Given the description of an element on the screen output the (x, y) to click on. 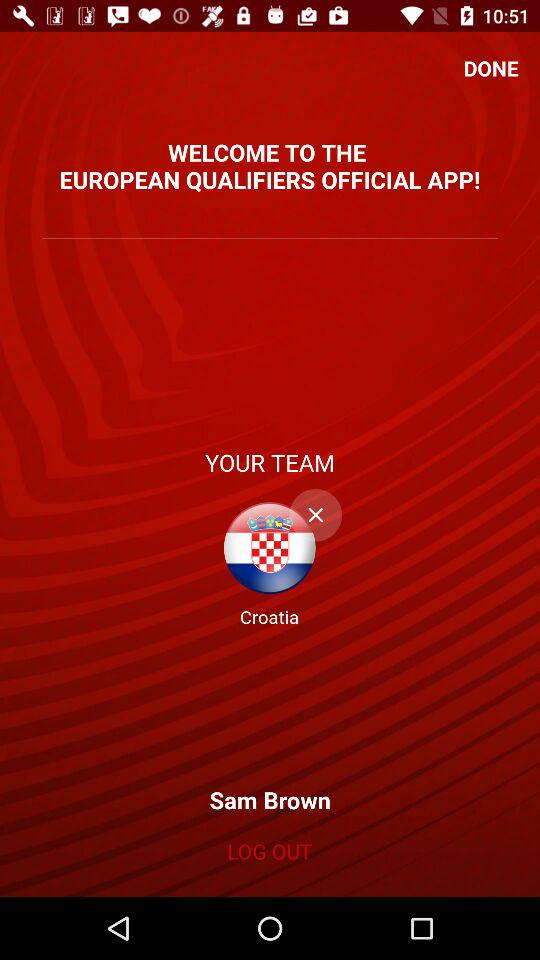
tap the item below the sam brown (269, 851)
